Given the description of an element on the screen output the (x, y) to click on. 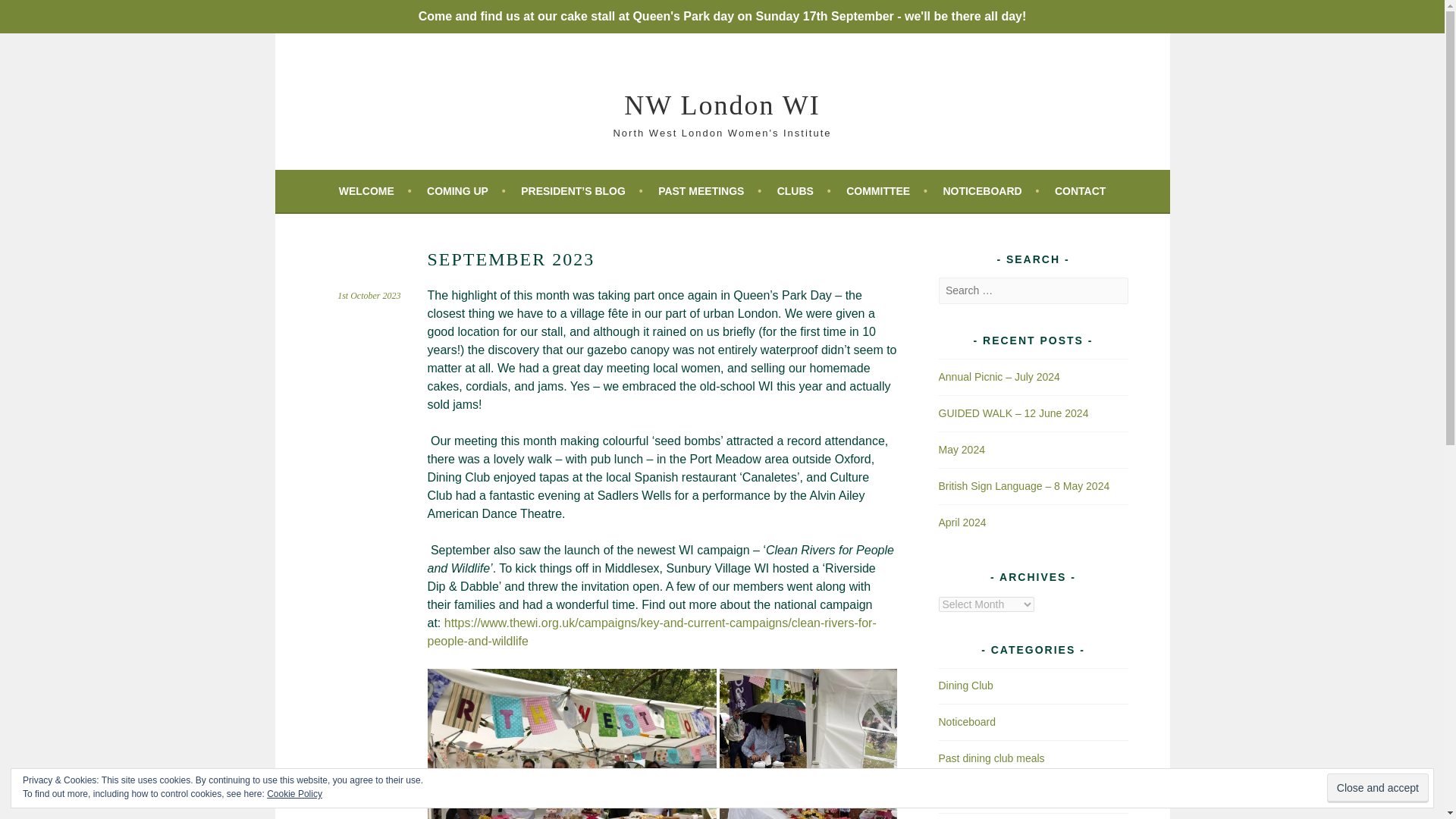
Search (30, 13)
PAST MEETINGS (709, 190)
Past dining club meals (992, 758)
COMMITTEE (886, 190)
Dining Club (965, 685)
NOTICEBOARD (990, 190)
April 2024 (963, 522)
1st October 2023 (368, 295)
Close and accept (1377, 788)
CLUBS (804, 190)
May 2024 (962, 449)
NW London WI (722, 105)
CONTACT (1079, 190)
